Given the description of an element on the screen output the (x, y) to click on. 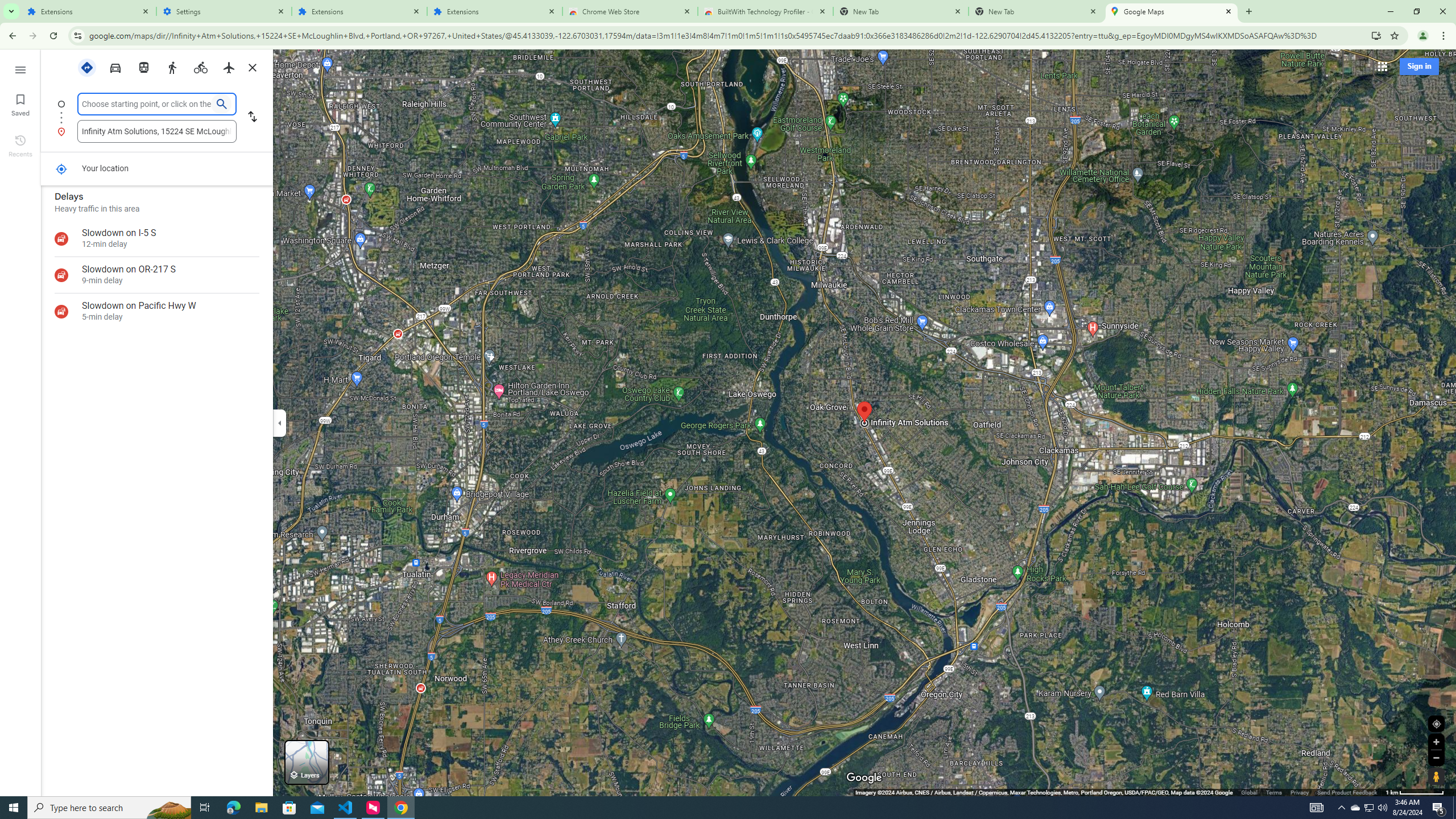
Extensions (494, 11)
Choose starting point, or click on the map... (146, 103)
Google Maps (1171, 11)
500 m (1415, 792)
New Tab (1036, 11)
Your location (60, 168)
AutomationID: sb_ifc51 (156, 131)
Install Google Maps (1376, 35)
Best travel modes (87, 66)
Zoom in (1436, 741)
